Given the description of an element on the screen output the (x, y) to click on. 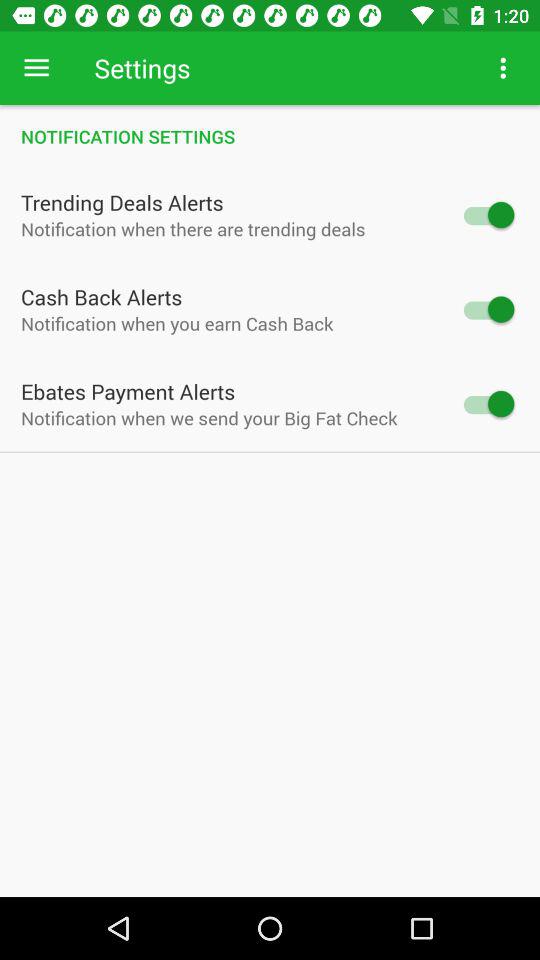
mark off (487, 309)
